Given the description of an element on the screen output the (x, y) to click on. 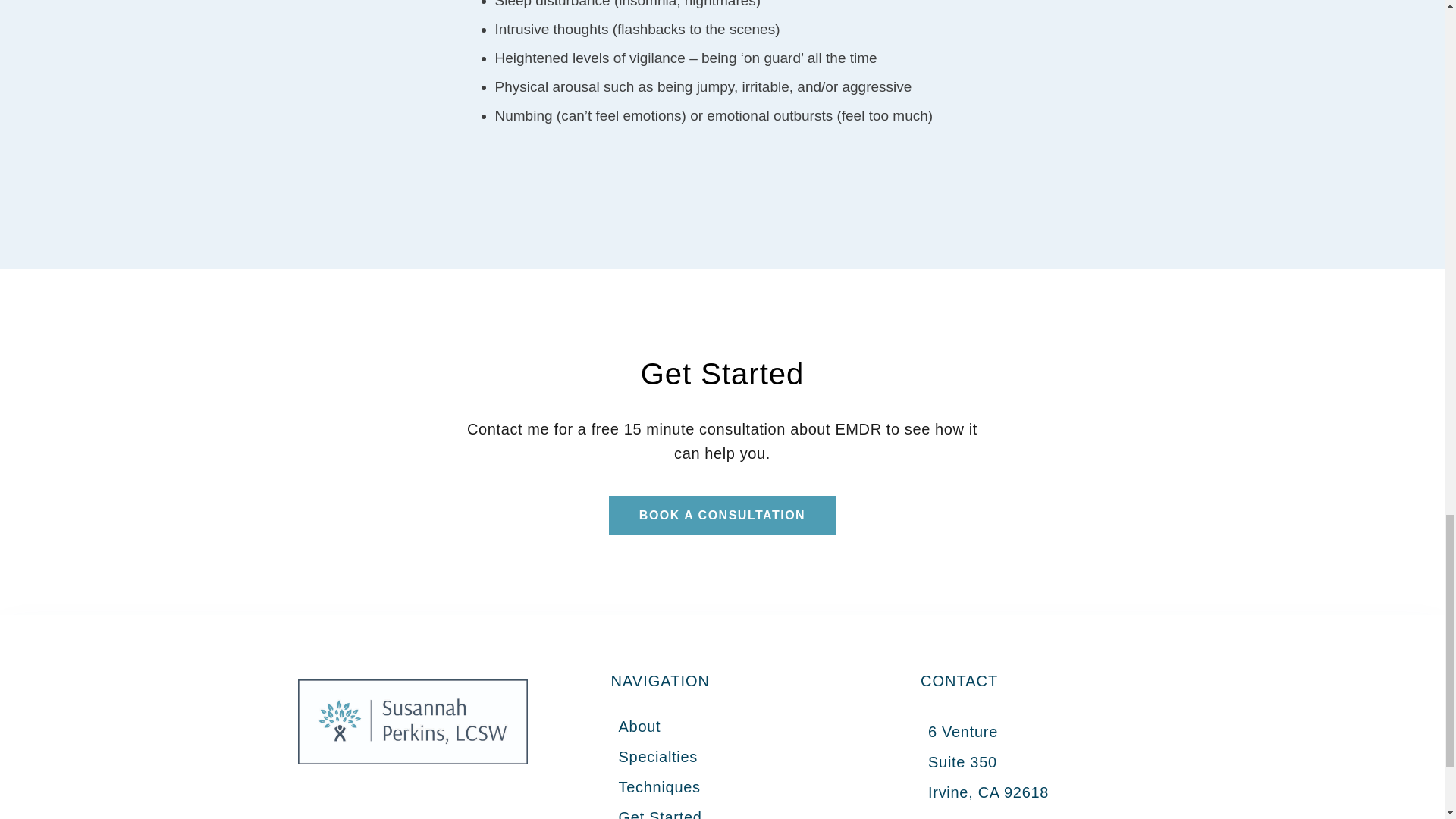
BOOK A CONSULTATION (721, 515)
